Given the description of an element on the screen output the (x, y) to click on. 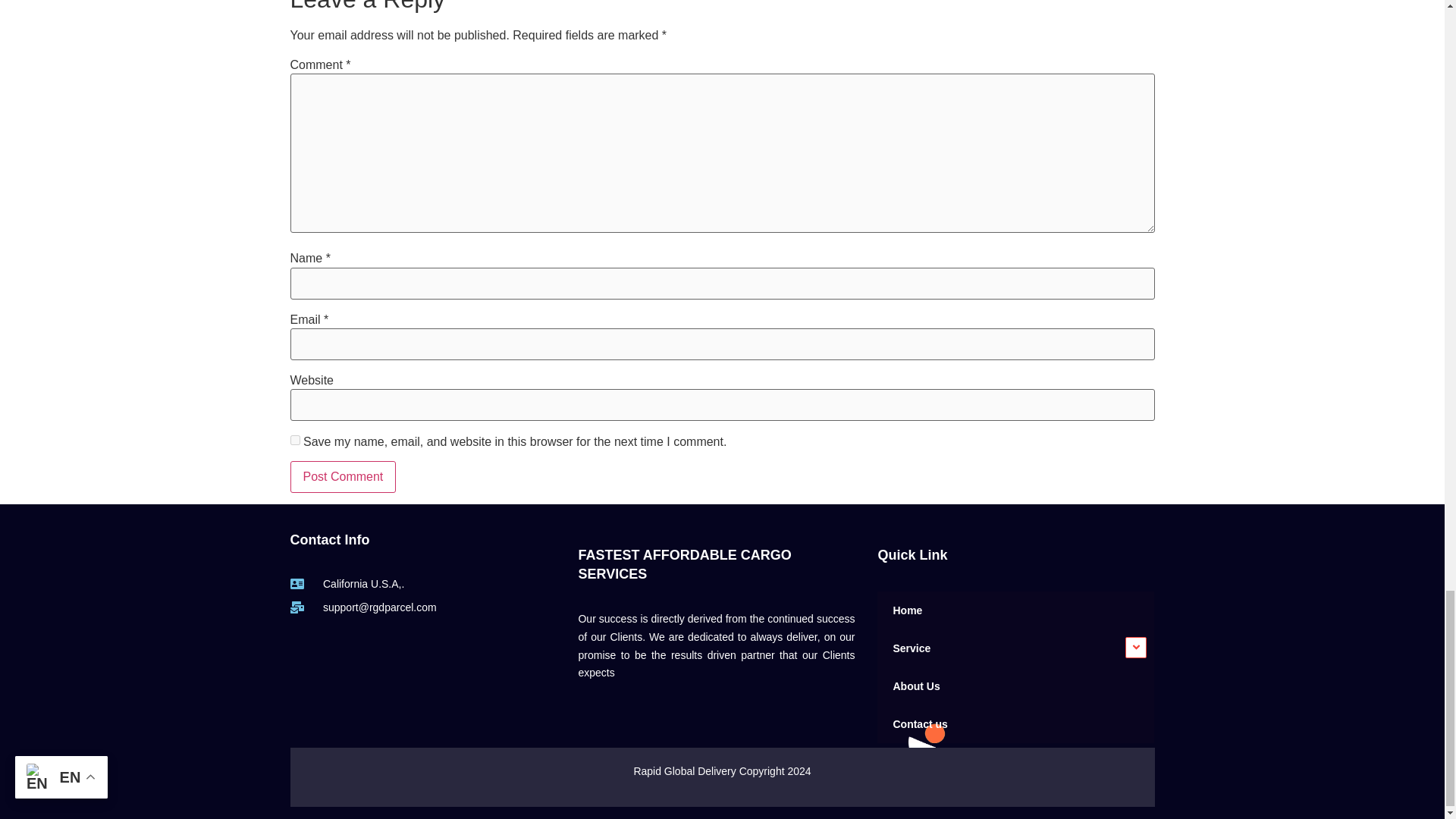
Post Comment (342, 477)
About Us (1015, 686)
Post Comment (342, 477)
Service (1015, 648)
yes (294, 439)
Contact us (1015, 723)
Home (1015, 610)
